Given the description of an element on the screen output the (x, y) to click on. 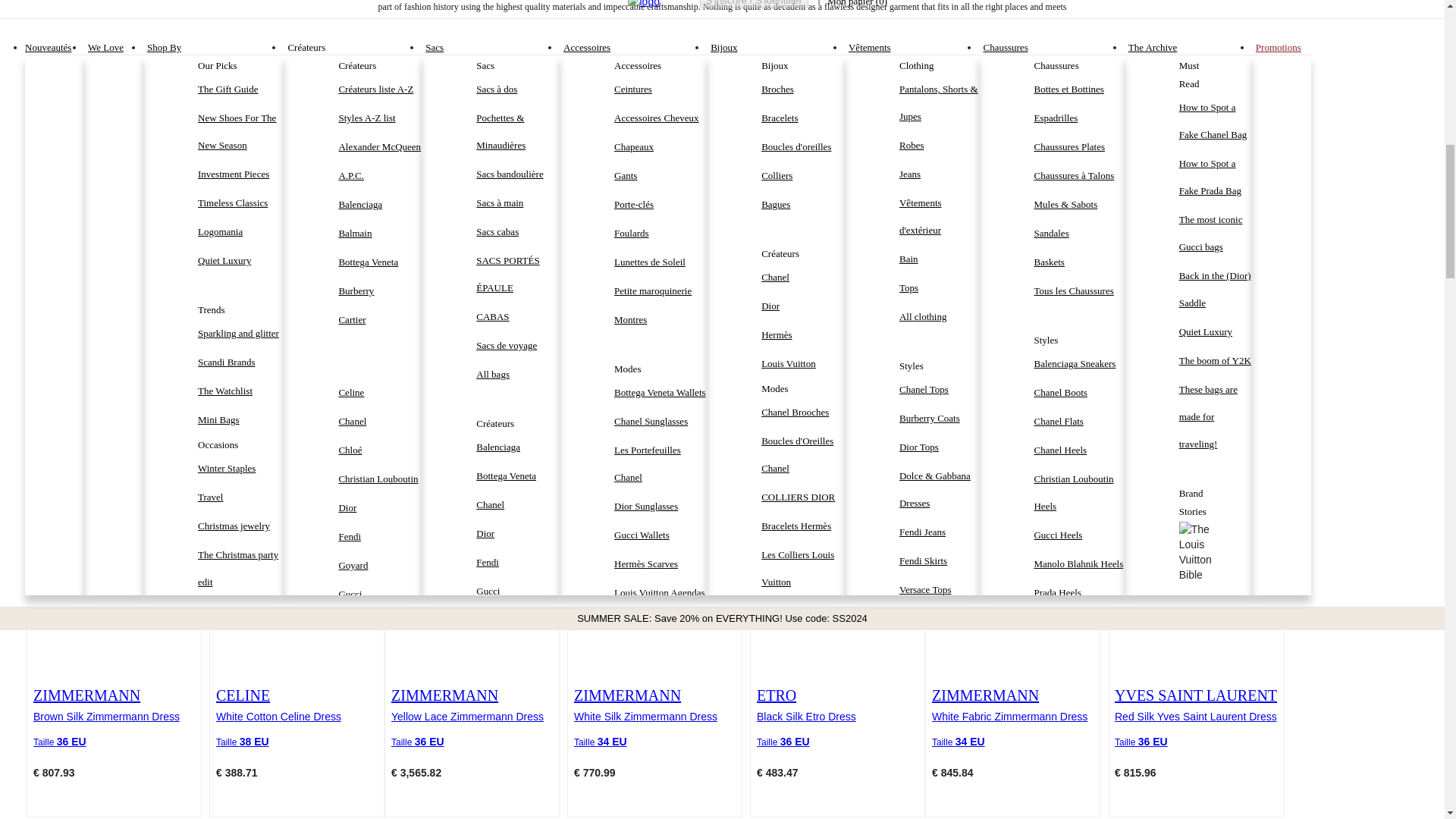
Brown Silk Zimmermann Dress (114, 716)
Pink Wool Chanel Top (651, 401)
Black Cotton Gucci Sweatshirt (293, 401)
White Silk Zimmermann Dress (654, 716)
Brown Polyester Fendi Shorts (109, 401)
White Cotton Celine Dress (296, 716)
Yellow Lace Zimmermann Dress (472, 716)
White Cotton Off White Top (475, 401)
Multicolor Fabric Elisabetta Franchi Dress (1214, 401)
Yellow Fabric Solace London Dress (1019, 401)
White Fabric Zimmermann Dress (833, 401)
